Given the description of an element on the screen output the (x, y) to click on. 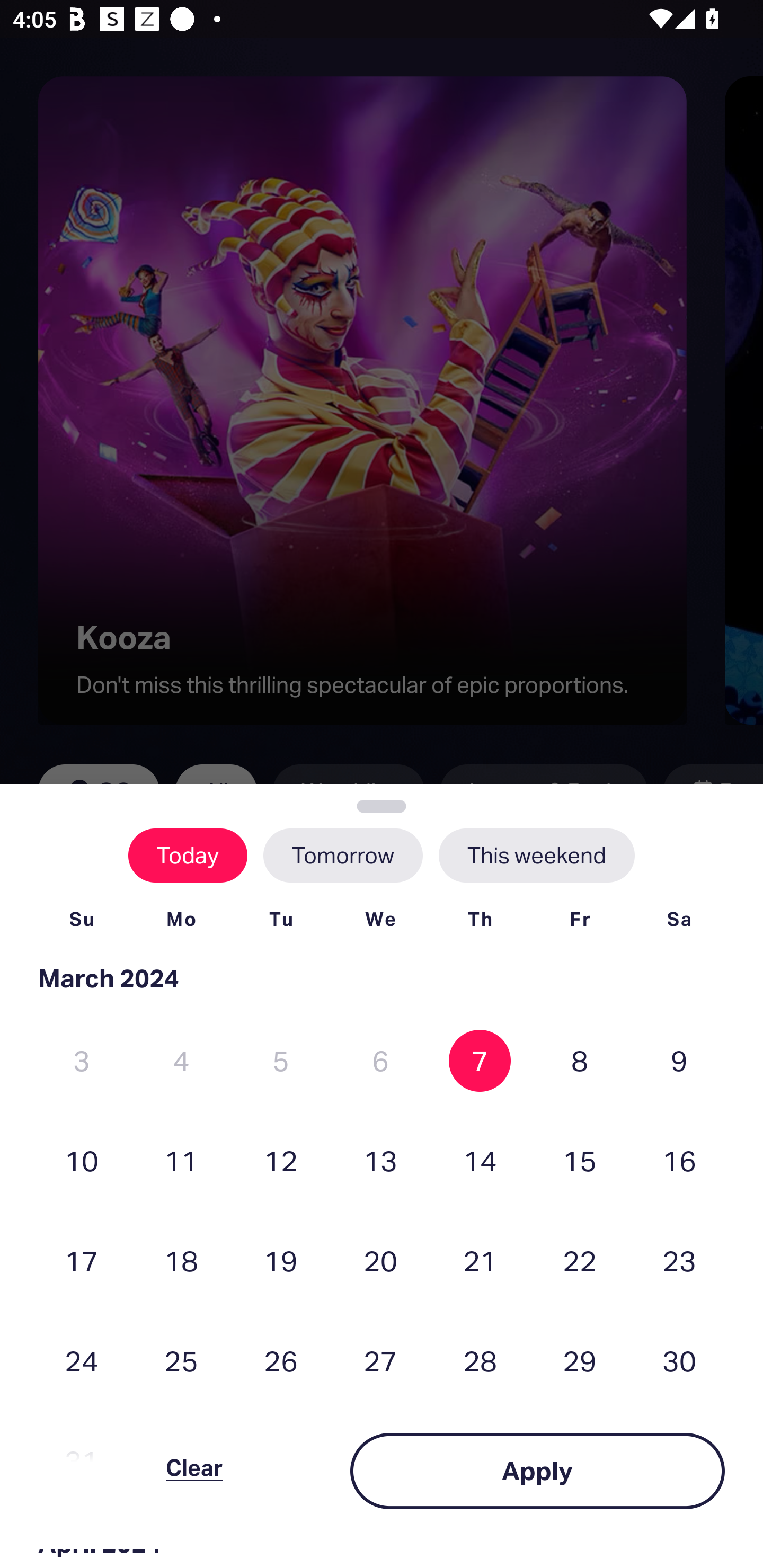
Today (187, 854)
Tomorrow (342, 854)
This weekend (536, 854)
3 (81, 1060)
4 (181, 1060)
5 (280, 1060)
6 (380, 1060)
7 (479, 1060)
8 (579, 1060)
9 (678, 1060)
10 (81, 1160)
11 (181, 1160)
12 (280, 1160)
13 (380, 1160)
14 (479, 1160)
15 (579, 1160)
16 (678, 1160)
17 (81, 1260)
18 (181, 1260)
19 (280, 1260)
20 (380, 1260)
21 (479, 1260)
22 (579, 1260)
23 (678, 1260)
24 (81, 1360)
25 (181, 1360)
26 (280, 1360)
27 (380, 1360)
28 (479, 1360)
29 (579, 1360)
30 (678, 1360)
Clear (194, 1470)
Apply (537, 1470)
